Given the description of an element on the screen output the (x, y) to click on. 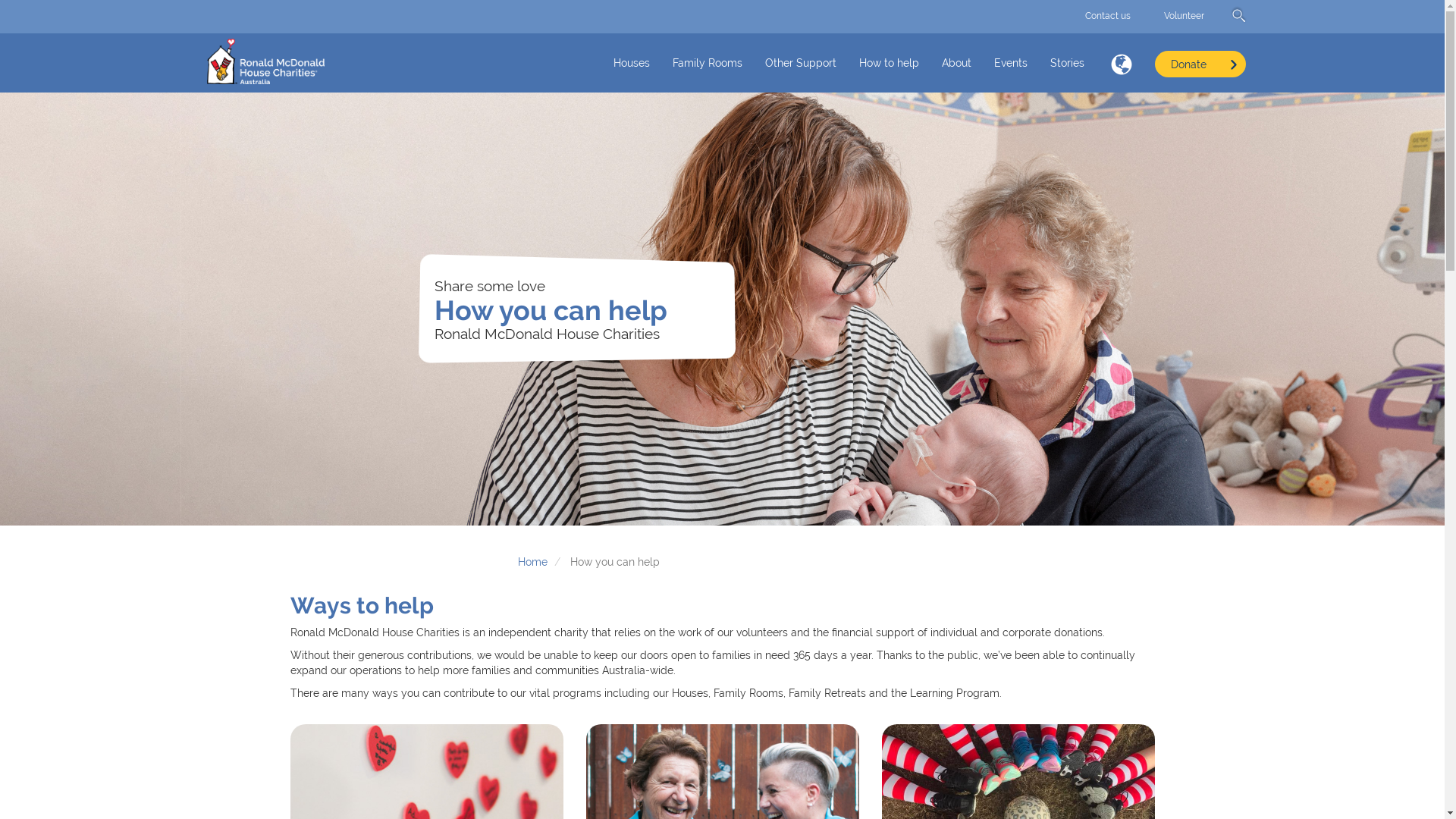
Events Element type: text (1010, 63)
Volunteer Element type: text (1183, 16)
Contact us Element type: text (1106, 16)
Home Element type: hover (264, 61)
Houses Element type: text (631, 63)
Skip to main content Element type: text (721, 0)
About Element type: text (955, 63)
Donate Element type: text (1199, 63)
Family Rooms Element type: text (707, 63)
How to help Element type: text (888, 63)
Stories Element type: text (1066, 63)
Other Support Element type: text (800, 63)
Home Element type: text (531, 561)
